Given the description of an element on the screen output the (x, y) to click on. 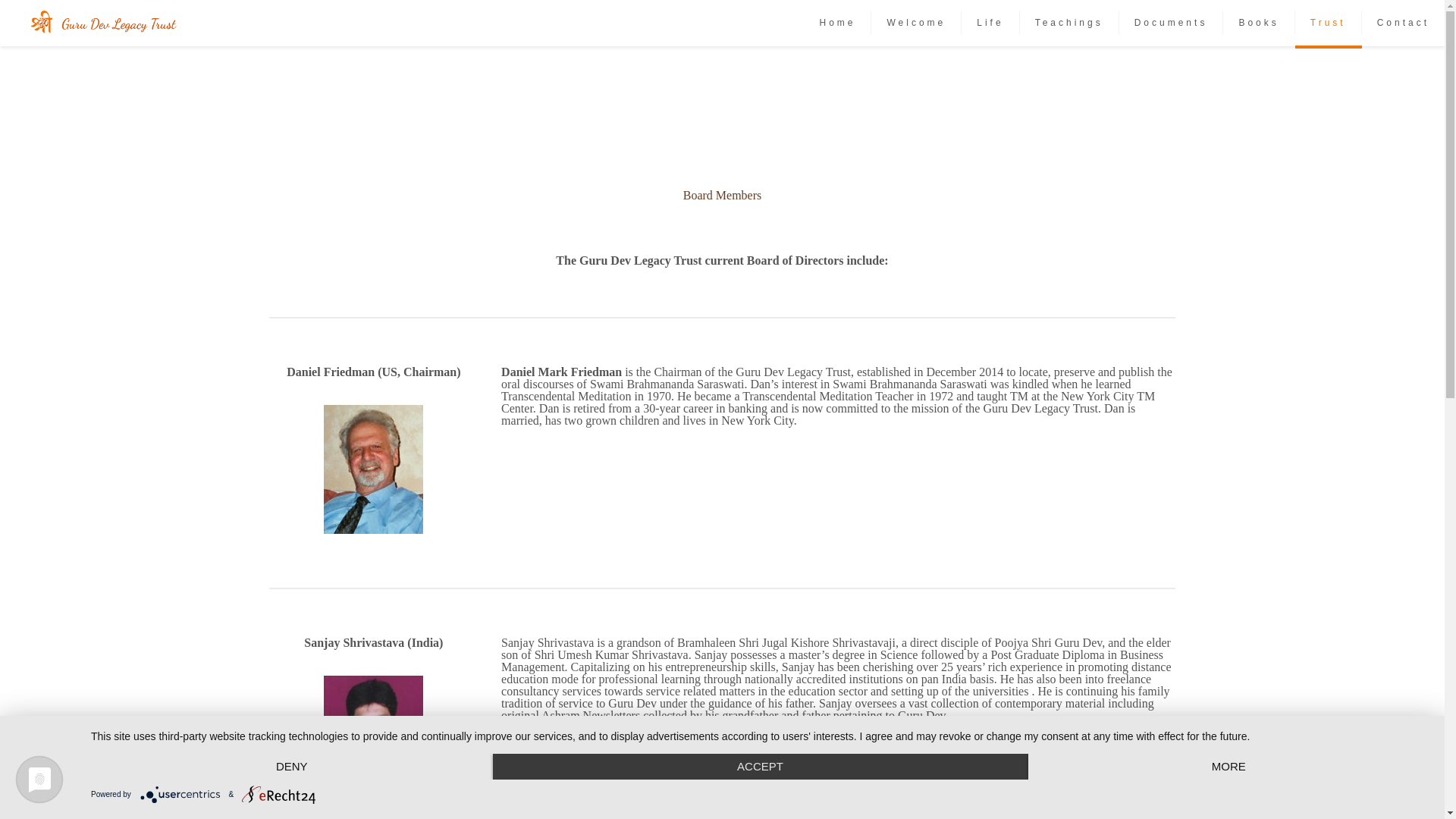
Documents (1171, 22)
Trust (1328, 22)
Home (836, 22)
Gurudevlegacytrust (101, 22)
Welcome (915, 22)
Life (989, 22)
Books (1258, 22)
Teachings (1069, 22)
